Given the description of an element on the screen output the (x, y) to click on. 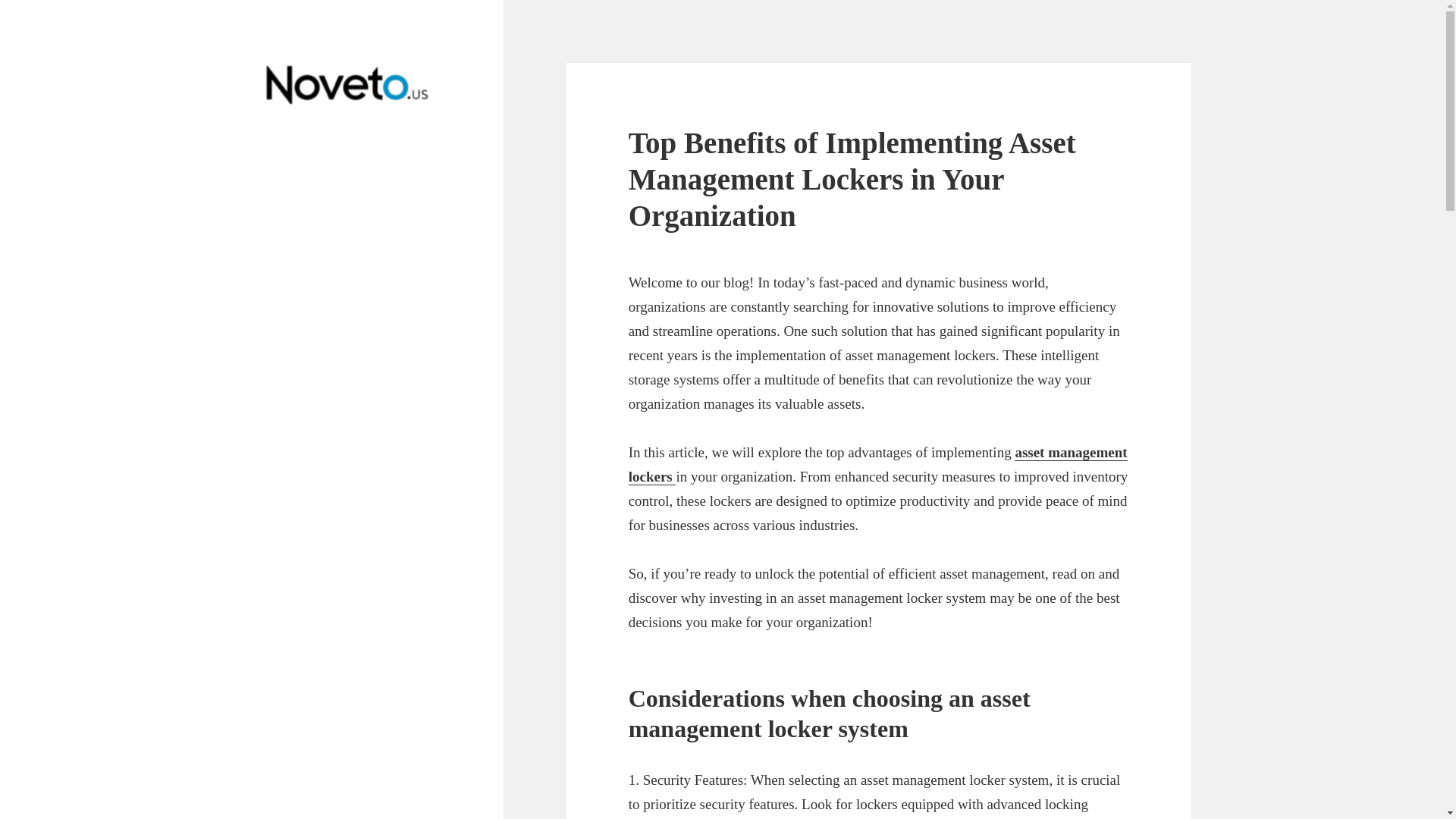
asset management lockers (877, 464)
